Given the description of an element on the screen output the (x, y) to click on. 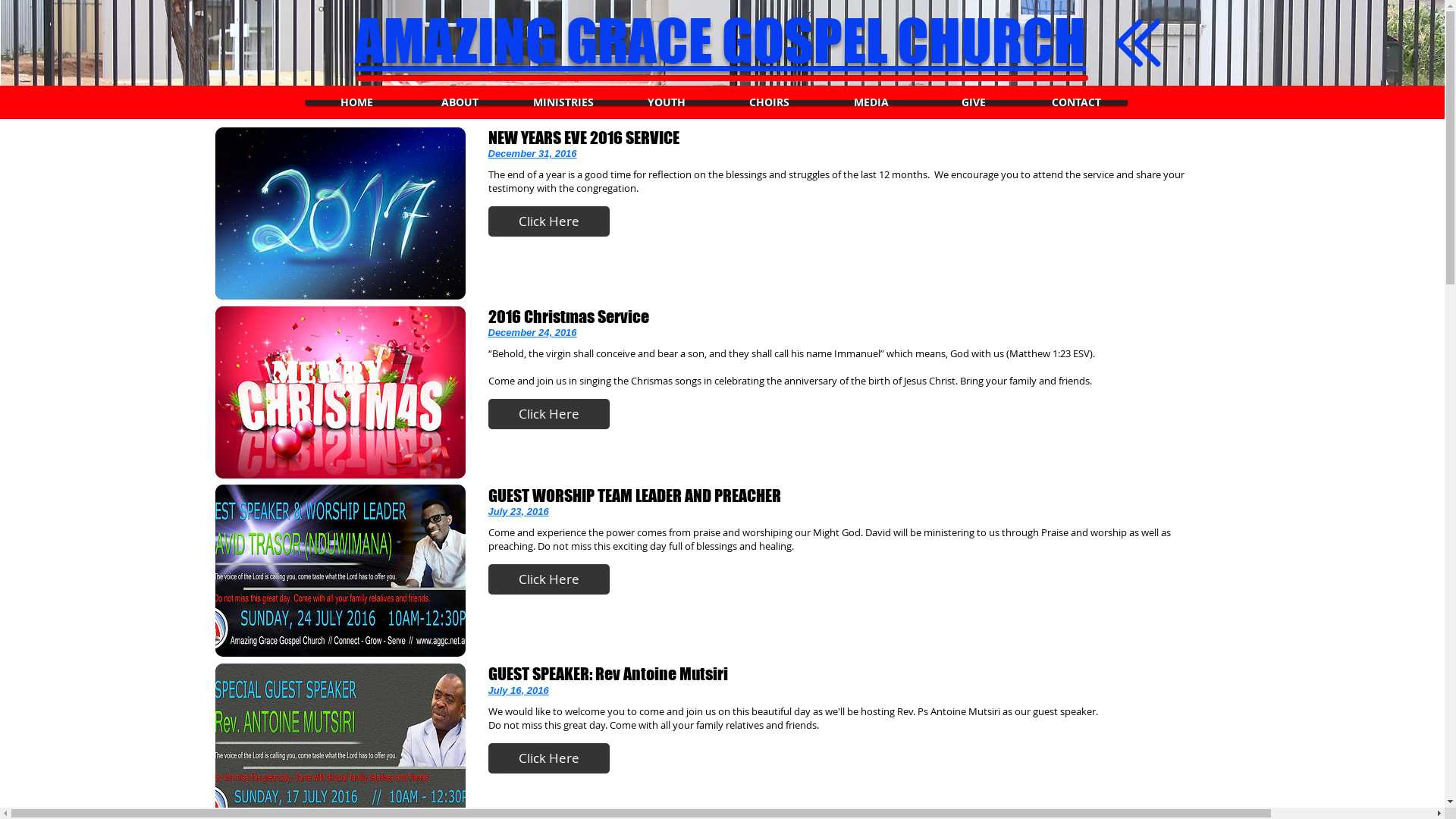
Christmas 2016.jpg Element type: hover (340, 392)
MEDIA Element type: text (871, 102)
MINISTRIES Element type: text (562, 102)
HOME Element type: text (355, 102)
ABOUT Element type: text (459, 102)
YOUTH Element type: text (665, 102)
AMAZING GRACE GOSPEL CHURCH Element type: text (719, 40)
CHOIRS Element type: text (768, 102)
David speaker - Draft 1.jpg Element type: hover (340, 570)
GIVE Element type: text (973, 102)
CONTACT Element type: text (1076, 102)
Happy New Year 2017.jpg Element type: hover (340, 213)
